Given the description of an element on the screen output the (x, y) to click on. 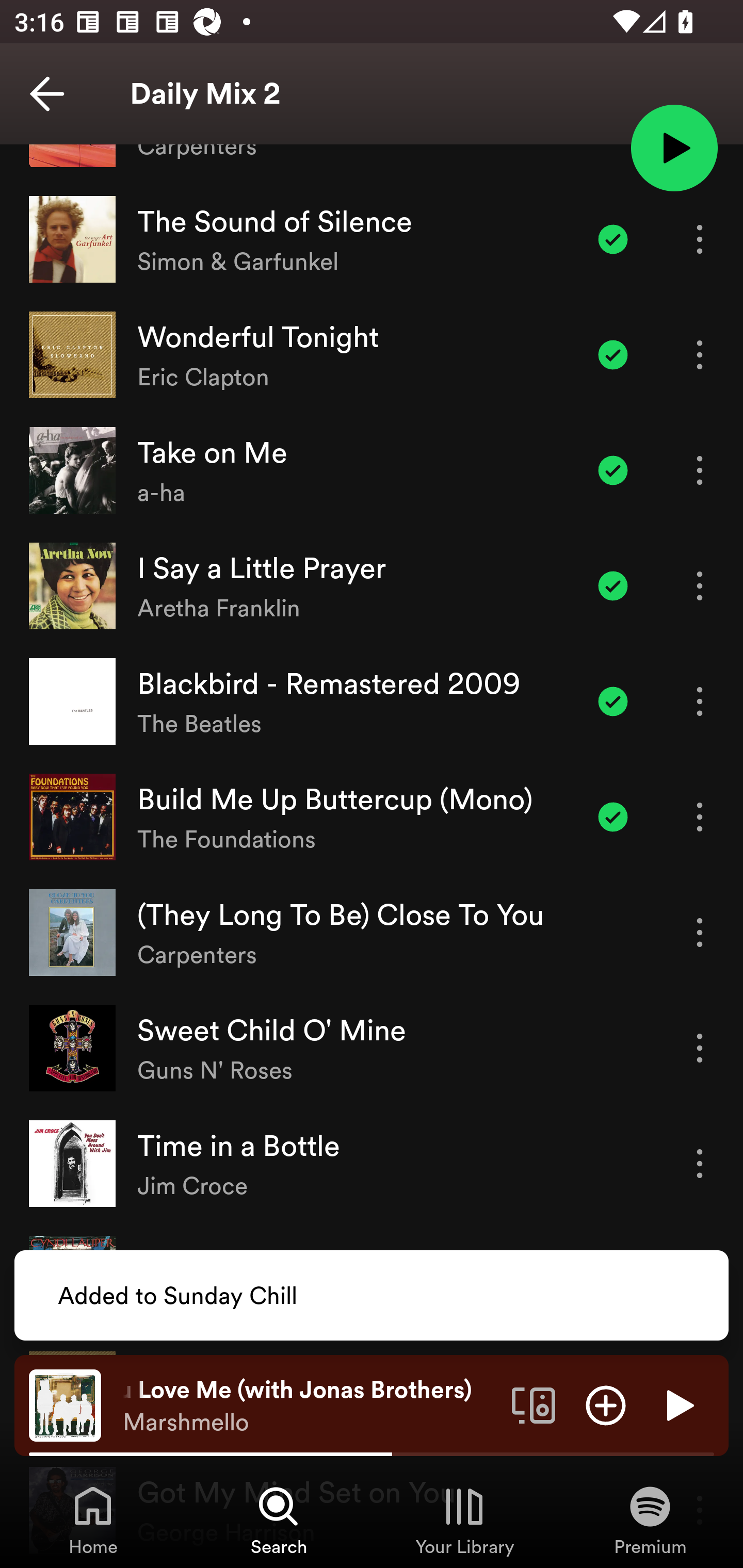
Back (46, 93)
Play playlist (674, 147)
Item added (612, 239)
More options for song The Sound of Silence (699, 239)
Item added (612, 355)
More options for song Wonderful Tonight (699, 355)
Item added (612, 470)
More options for song Take on Me (699, 470)
Item added (612, 585)
More options for song I Say a Little Prayer (699, 585)
Item added (612, 701)
More options for song Blackbird - Remastered 2009 (699, 701)
Item added (612, 816)
More options for song Build Me Up Buttercup (Mono) (699, 816)
